Given the description of an element on the screen output the (x, y) to click on. 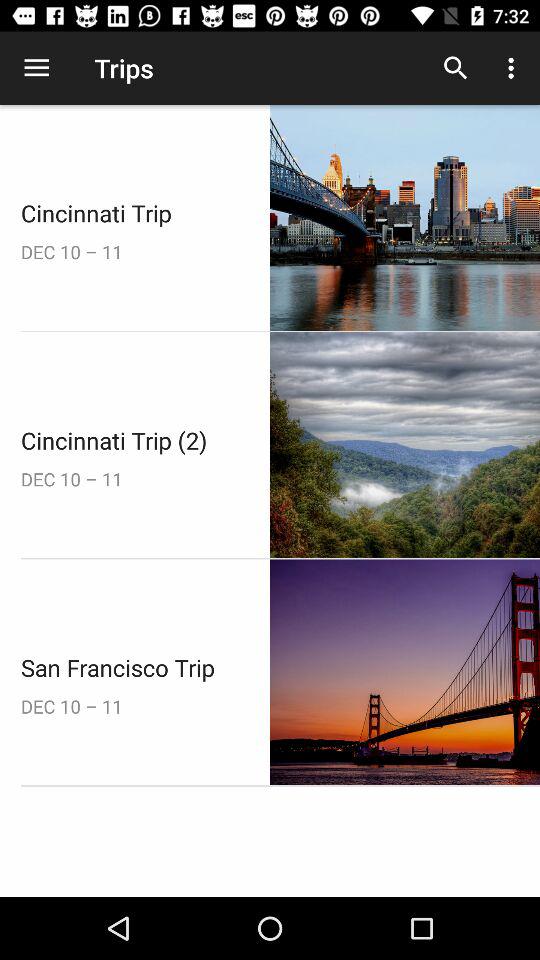
open the icon to the right of trips item (455, 67)
